Given the description of an element on the screen output the (x, y) to click on. 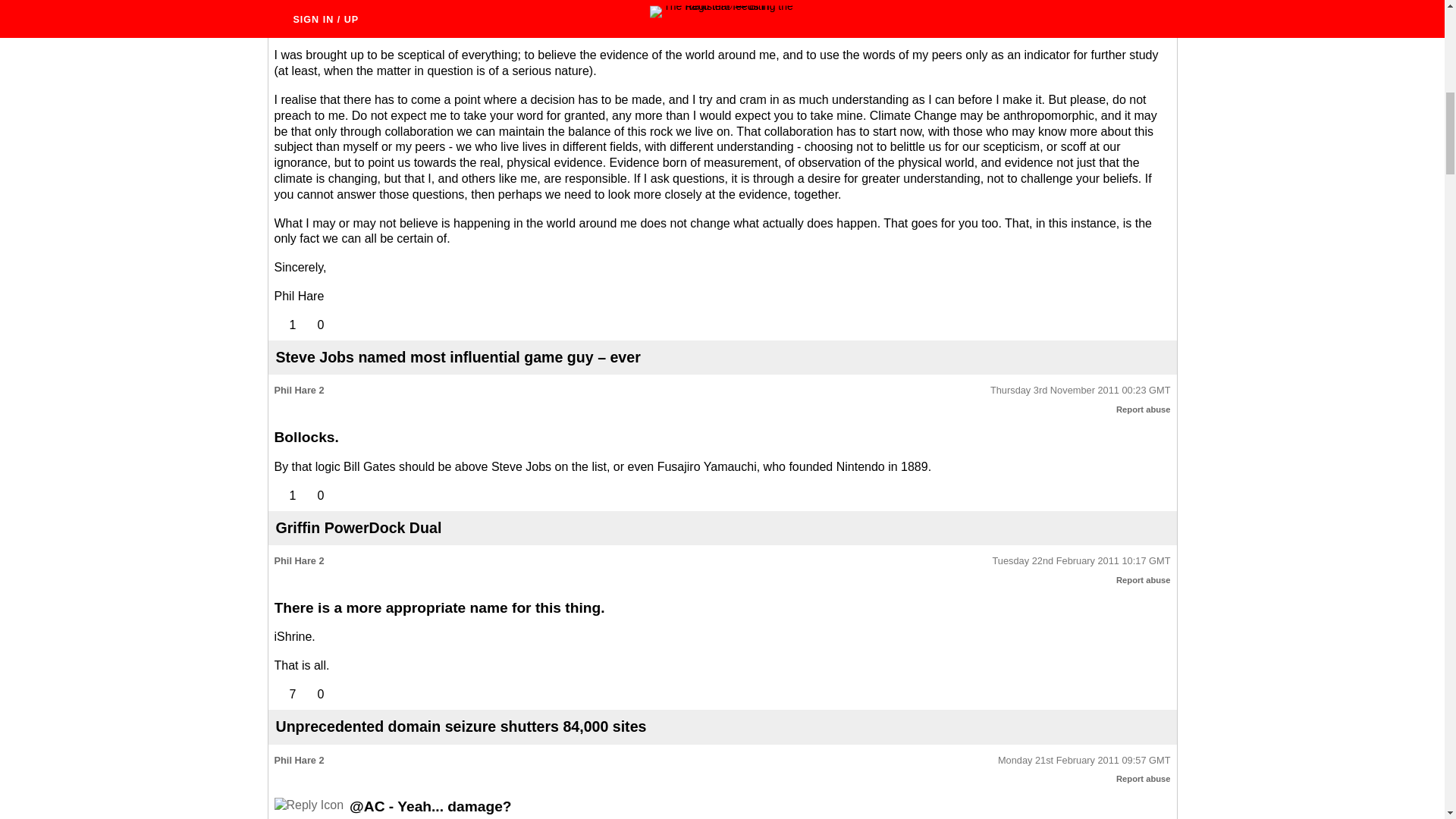
Permalink to this post (1080, 390)
Report abuse (1143, 777)
Dislike this post? Vote it down! (312, 324)
Like this post? Vote for it! (286, 324)
Report abuse (1143, 409)
Report abuse (1143, 579)
